Given the description of an element on the screen output the (x, y) to click on. 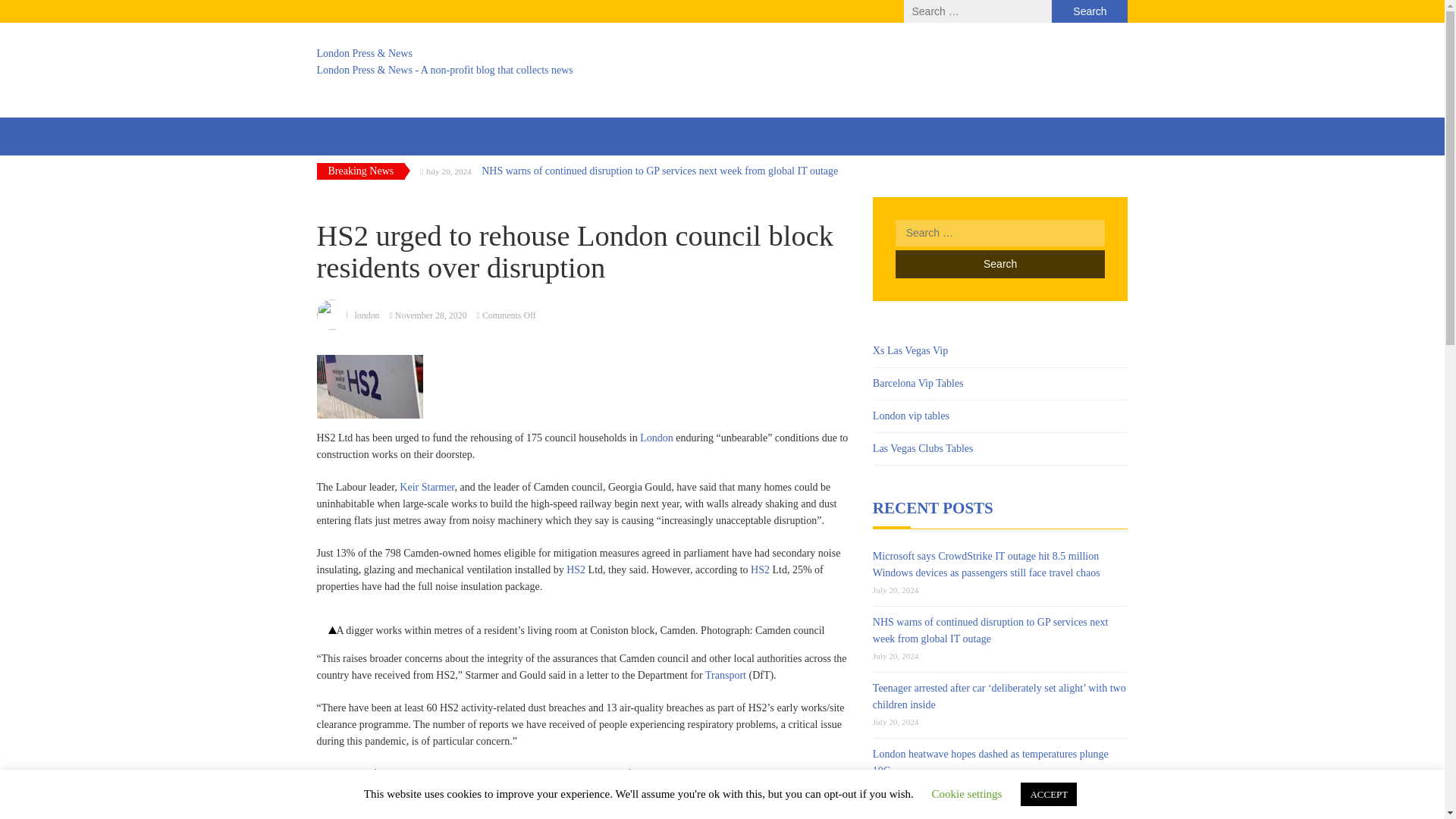
November 28, 2020 (430, 315)
Search (1088, 11)
Keir Starmer (426, 487)
Search (1088, 11)
Search (1000, 264)
Search (1000, 264)
Las Vegas Clubs Tables (923, 448)
Search (1000, 264)
Transport (724, 674)
London heatwave hopes dashed as temperatures plunge 10C (990, 762)
Second World War veteran finally gets medals 80 years later (990, 816)
Xs Las Vegas Vip (909, 350)
london (367, 315)
